Given the description of an element on the screen output the (x, y) to click on. 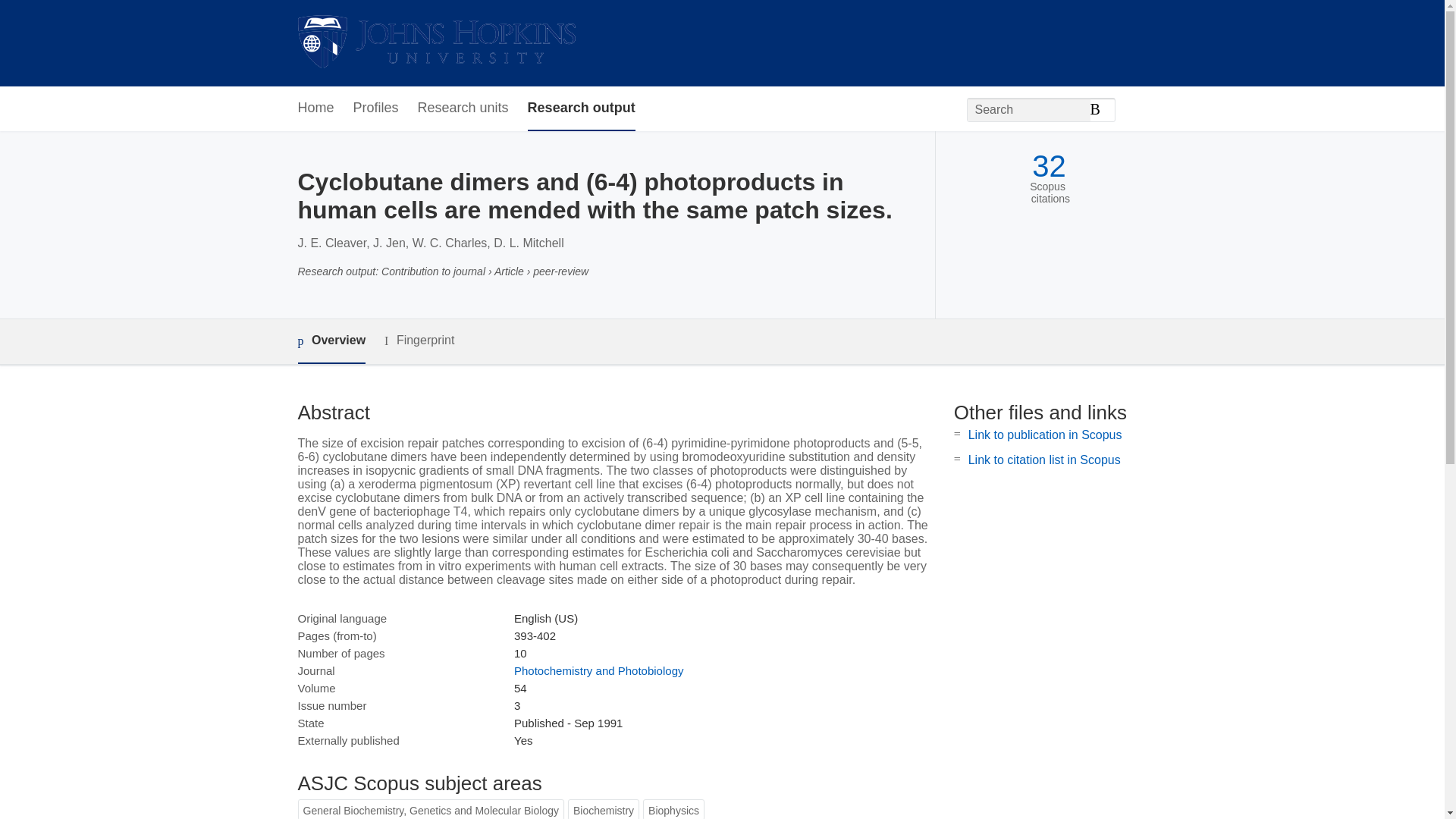
Link to citation list in Scopus (1044, 459)
Fingerprint (419, 340)
Research units (462, 108)
Overview (331, 341)
Research output (580, 108)
32 (1048, 166)
Profiles (375, 108)
Link to publication in Scopus (1045, 434)
Photochemistry and Photobiology (597, 670)
